Given the description of an element on the screen output the (x, y) to click on. 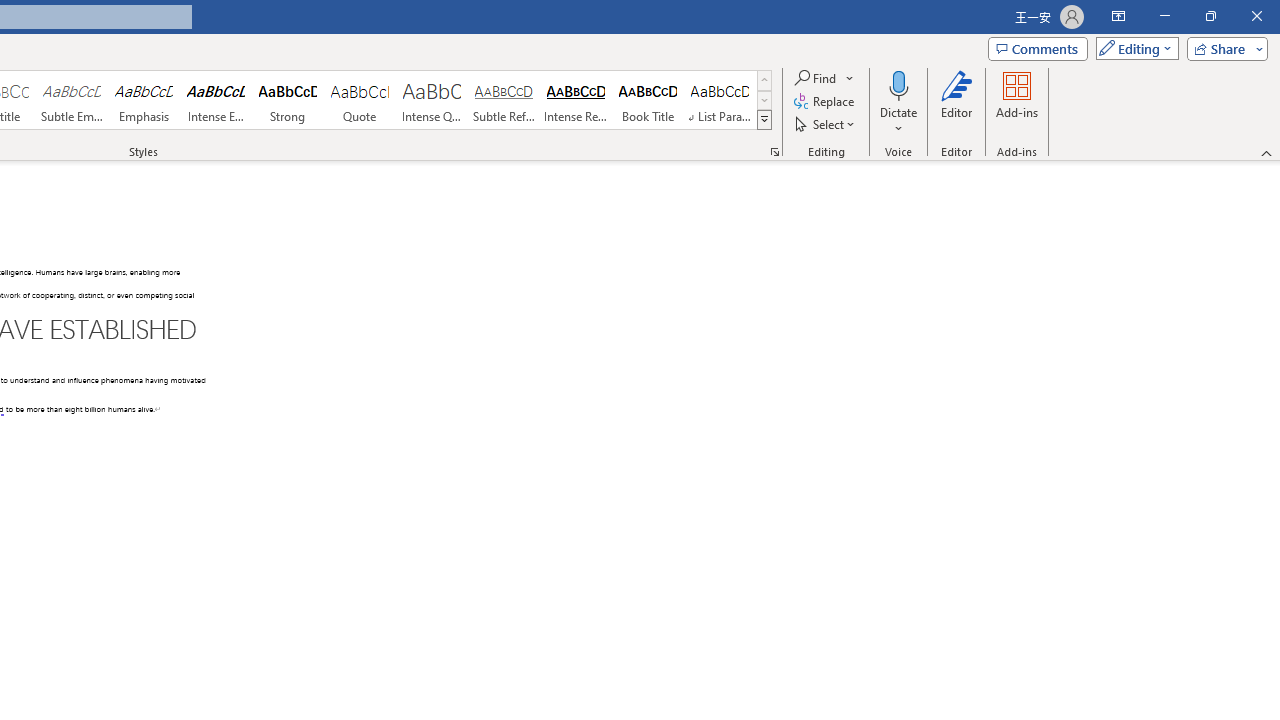
Mode (1133, 47)
